Given the description of an element on the screen output the (x, y) to click on. 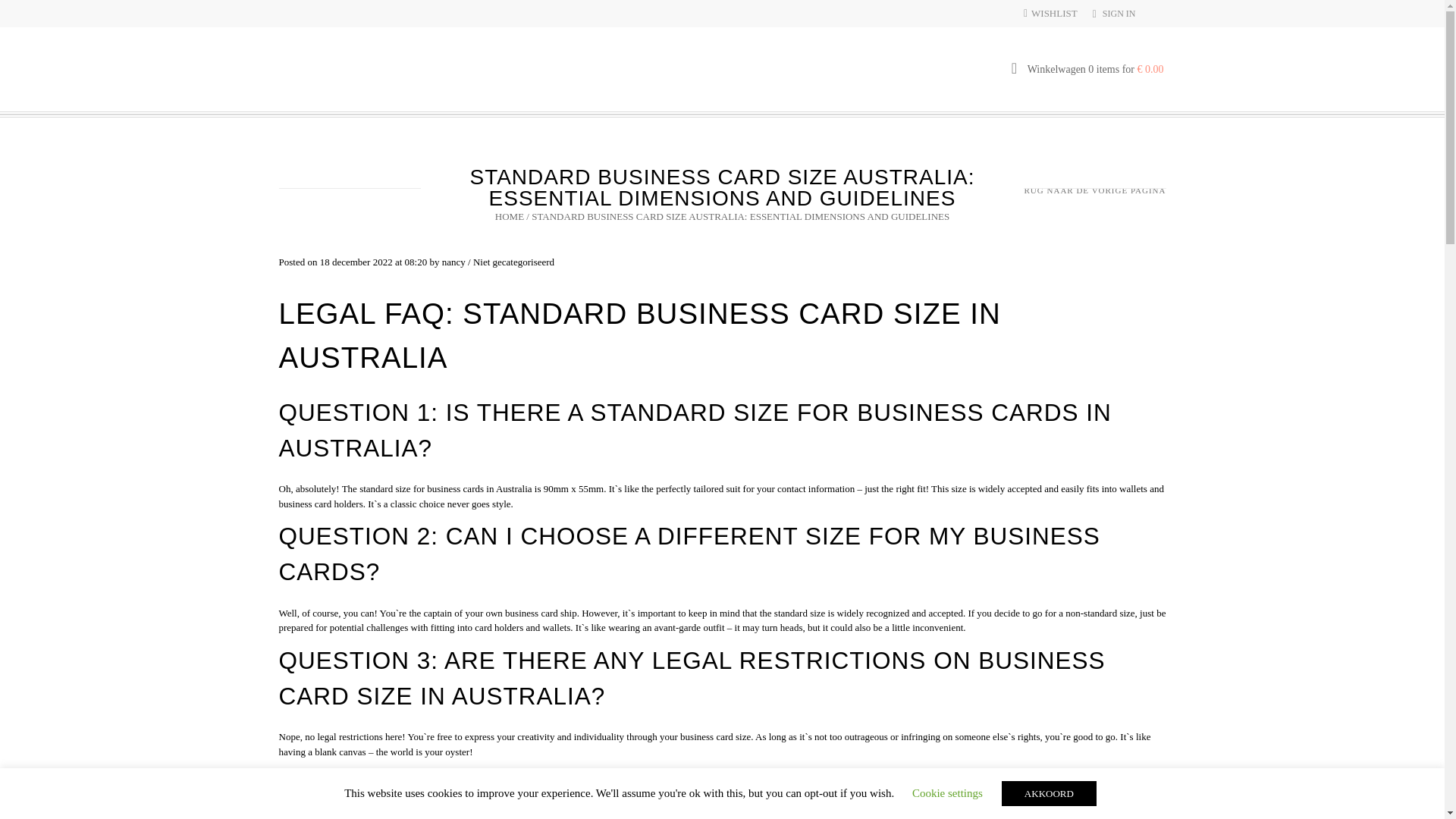
Cookie settings (947, 793)
nancy (453, 261)
WISHLIST (1050, 11)
TERUG NAAR DE VORIGE PAGINA (1088, 190)
SIGN IN (1118, 13)
HOME (509, 215)
AKKOORD (1048, 793)
Berichten van nancy (453, 261)
